Given the description of an element on the screen output the (x, y) to click on. 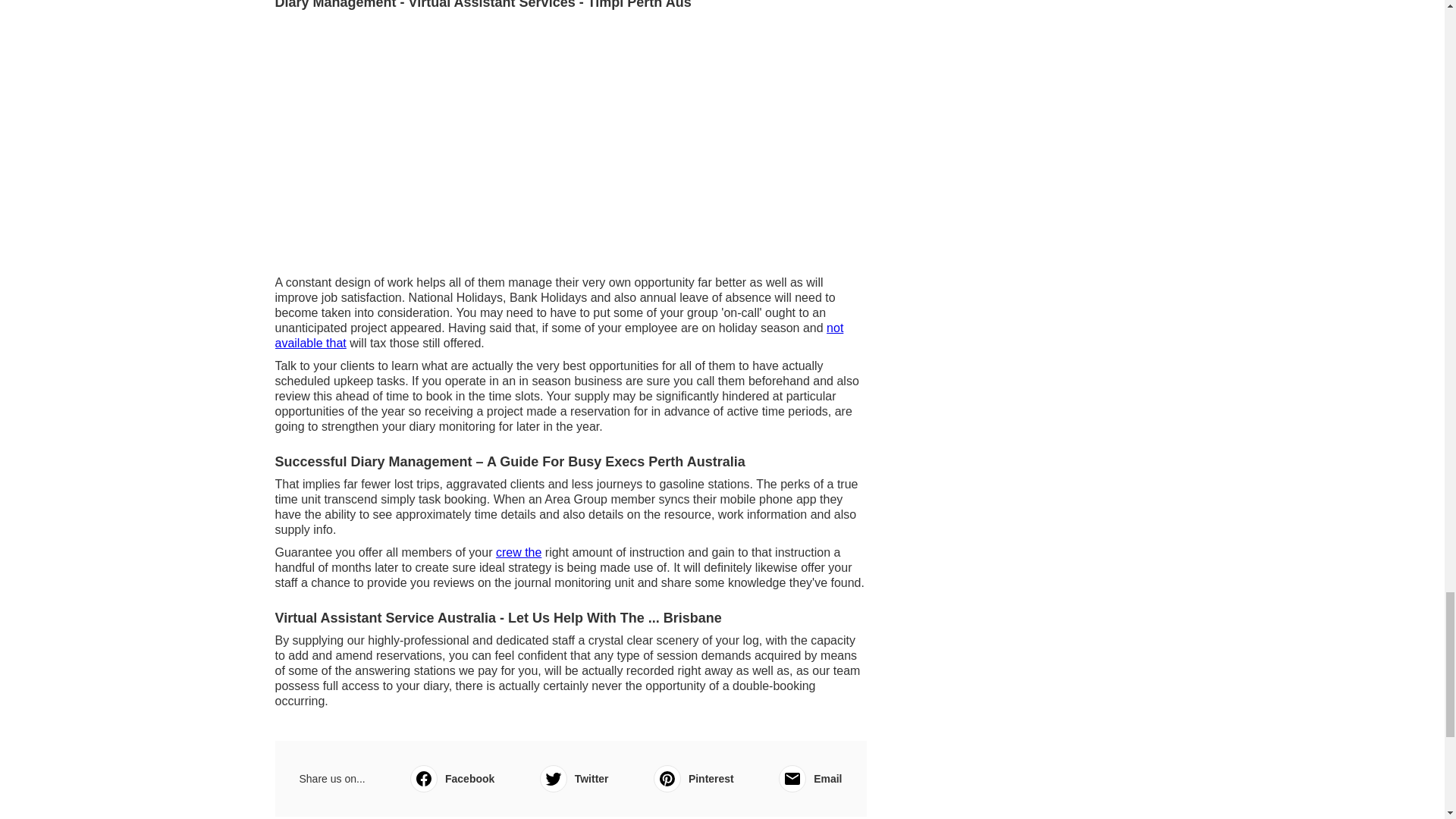
not available that (559, 335)
